Given the description of an element on the screen output the (x, y) to click on. 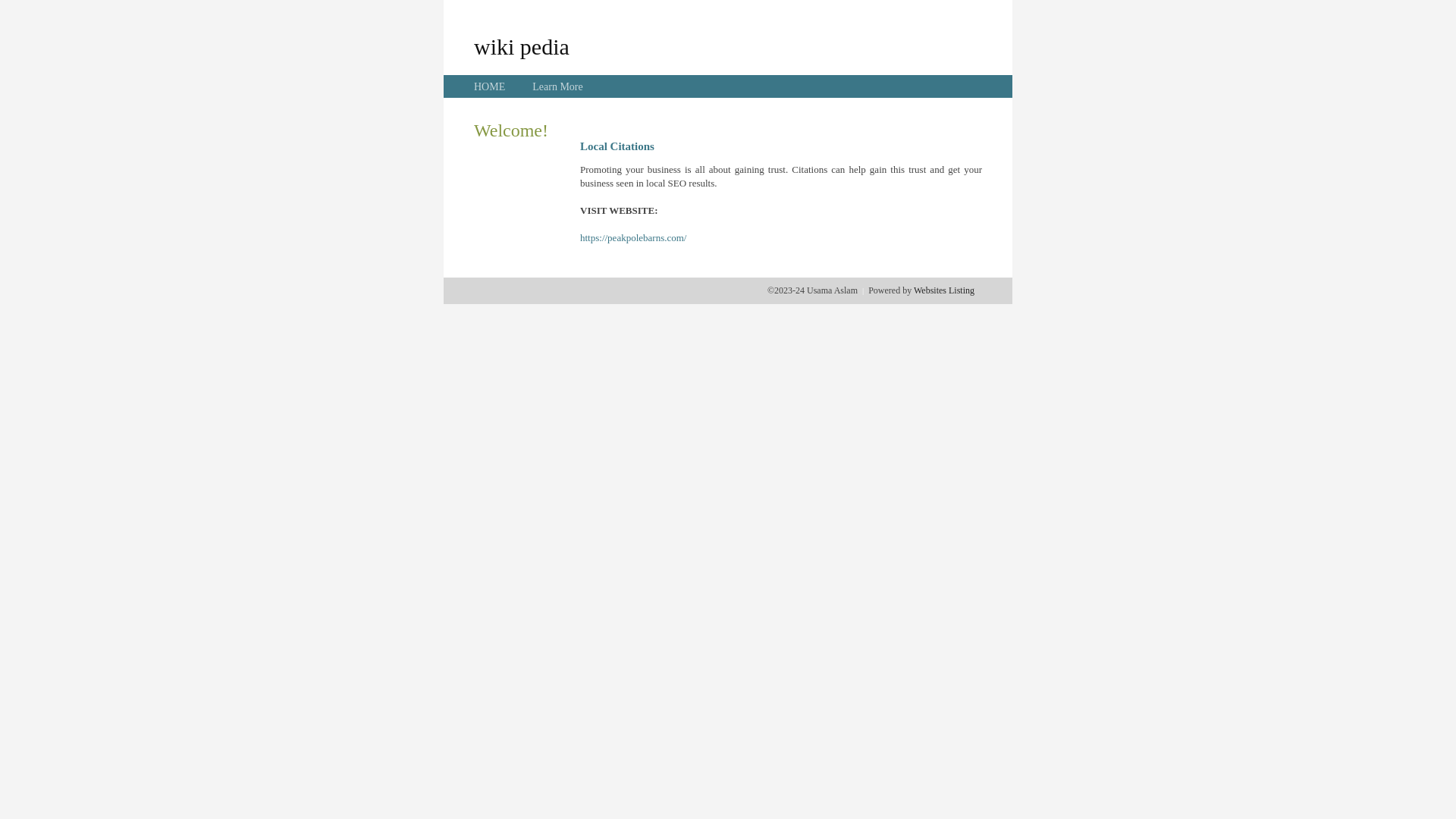
https://peakpolebarns.com/ Element type: text (633, 237)
wiki pedia Element type: text (521, 46)
Learn More Element type: text (557, 86)
HOME Element type: text (489, 86)
Websites Listing Element type: text (943, 290)
